Given the description of an element on the screen output the (x, y) to click on. 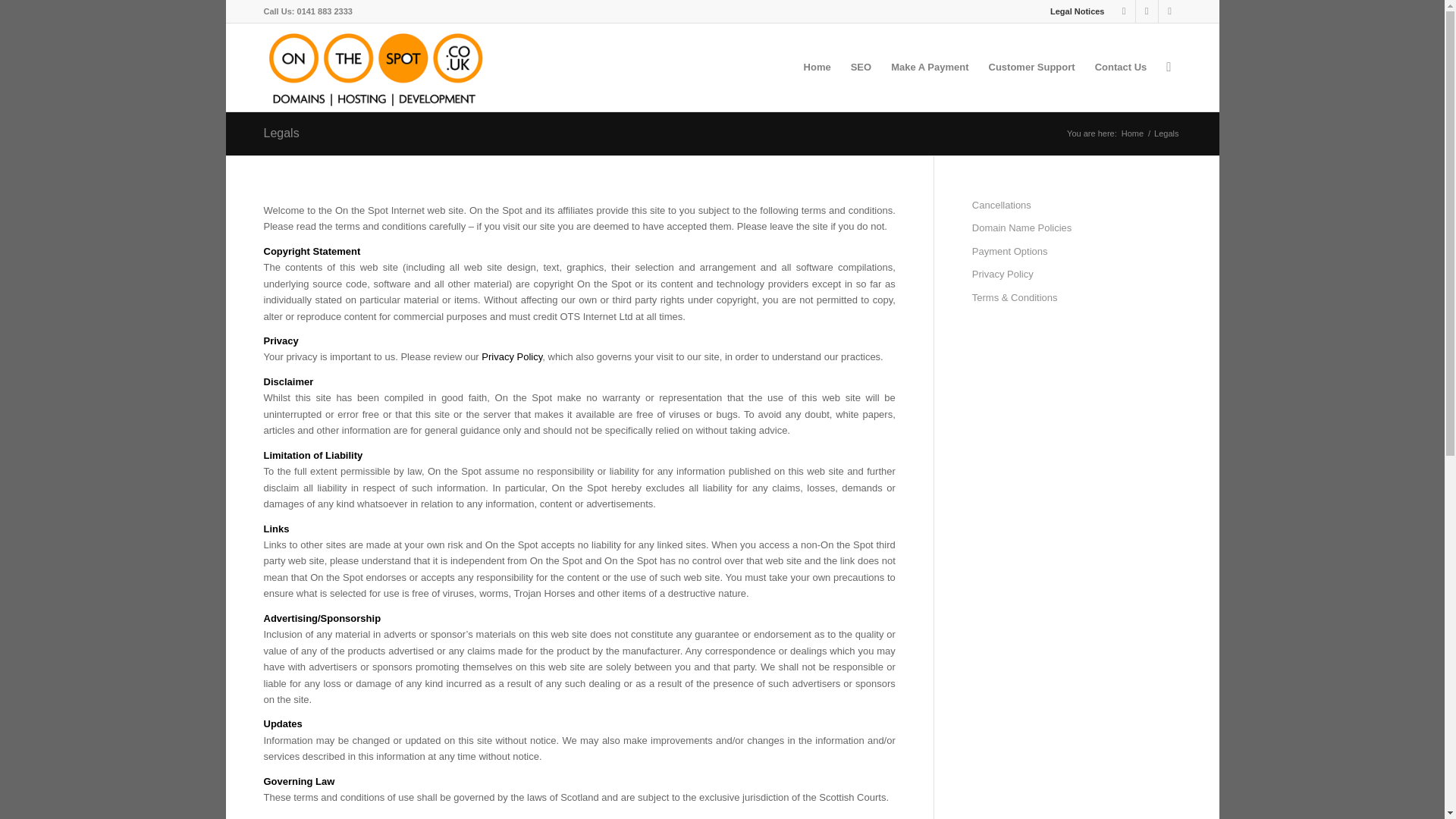
Permanent Link: Legals (281, 132)
Privacy Policy (511, 356)
Privacy Policy (511, 356)
Make A Payment (929, 67)
Legals (281, 132)
